Given the description of an element on the screen output the (x, y) to click on. 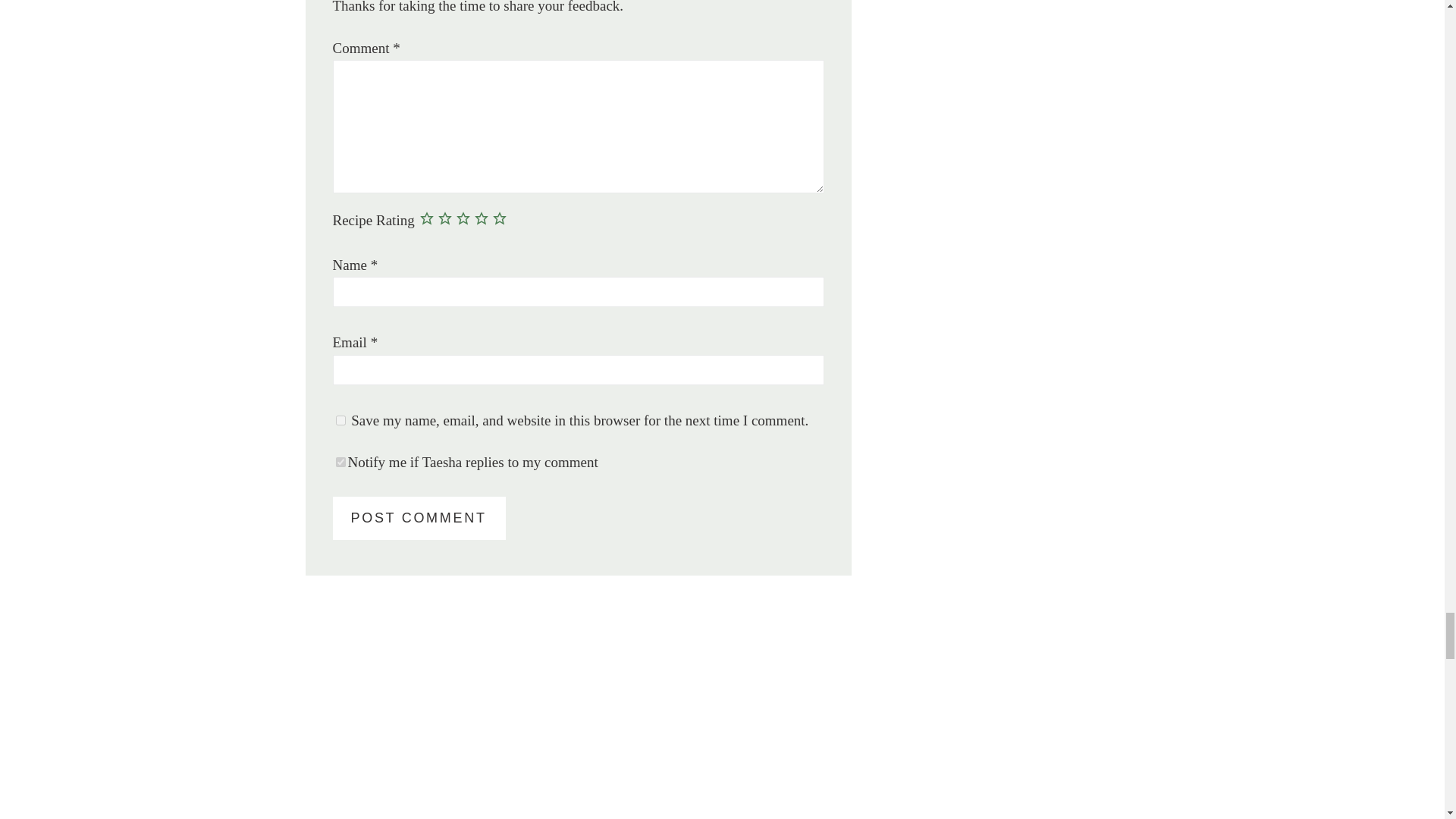
on (339, 461)
yes (339, 420)
Post Comment (418, 517)
